Given the description of an element on the screen output the (x, y) to click on. 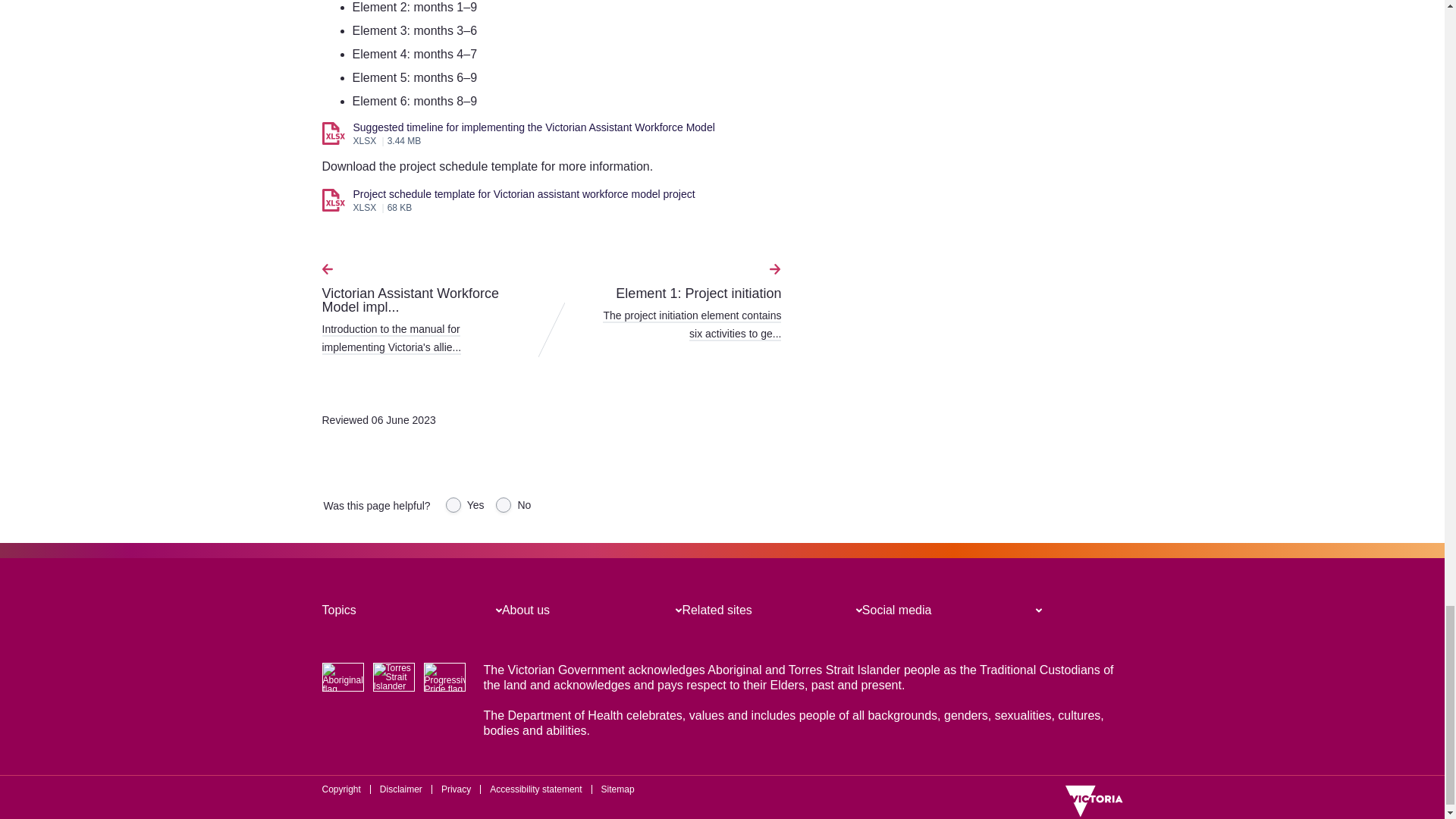
Yes (453, 504)
Topics (338, 609)
No (503, 504)
